Given the description of an element on the screen output the (x, y) to click on. 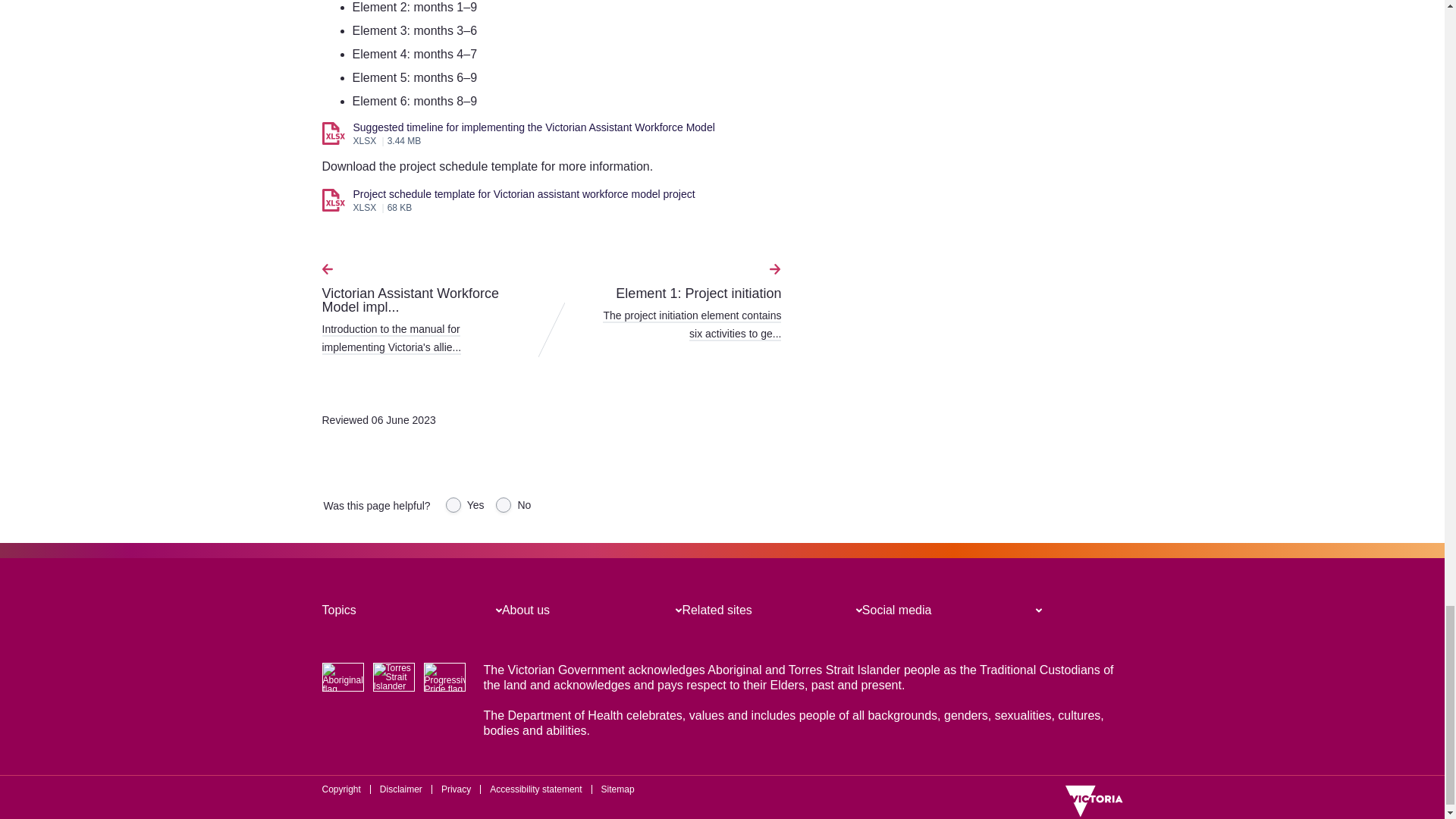
Yes (453, 504)
Topics (338, 609)
No (503, 504)
